Given the description of an element on the screen output the (x, y) to click on. 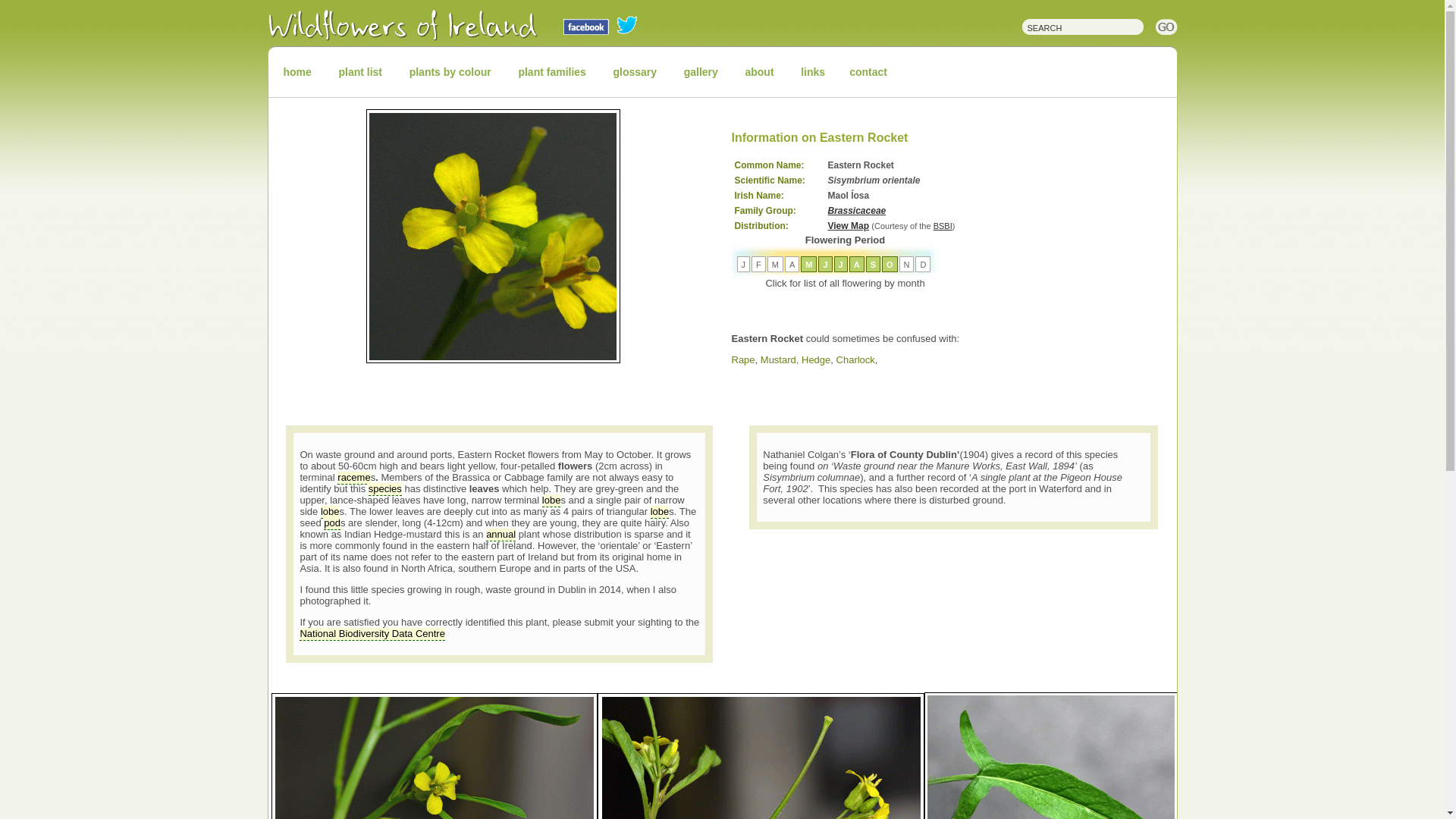
plant families (550, 71)
gallery (700, 71)
Rape (742, 359)
View Map (848, 225)
links (813, 71)
glossary (633, 71)
plants by colour (450, 71)
plant list (360, 71)
SEARCH (1075, 25)
contact (868, 71)
about (759, 71)
BSBI (942, 225)
home (296, 71)
SEARCH (1075, 25)
